Given the description of an element on the screen output the (x, y) to click on. 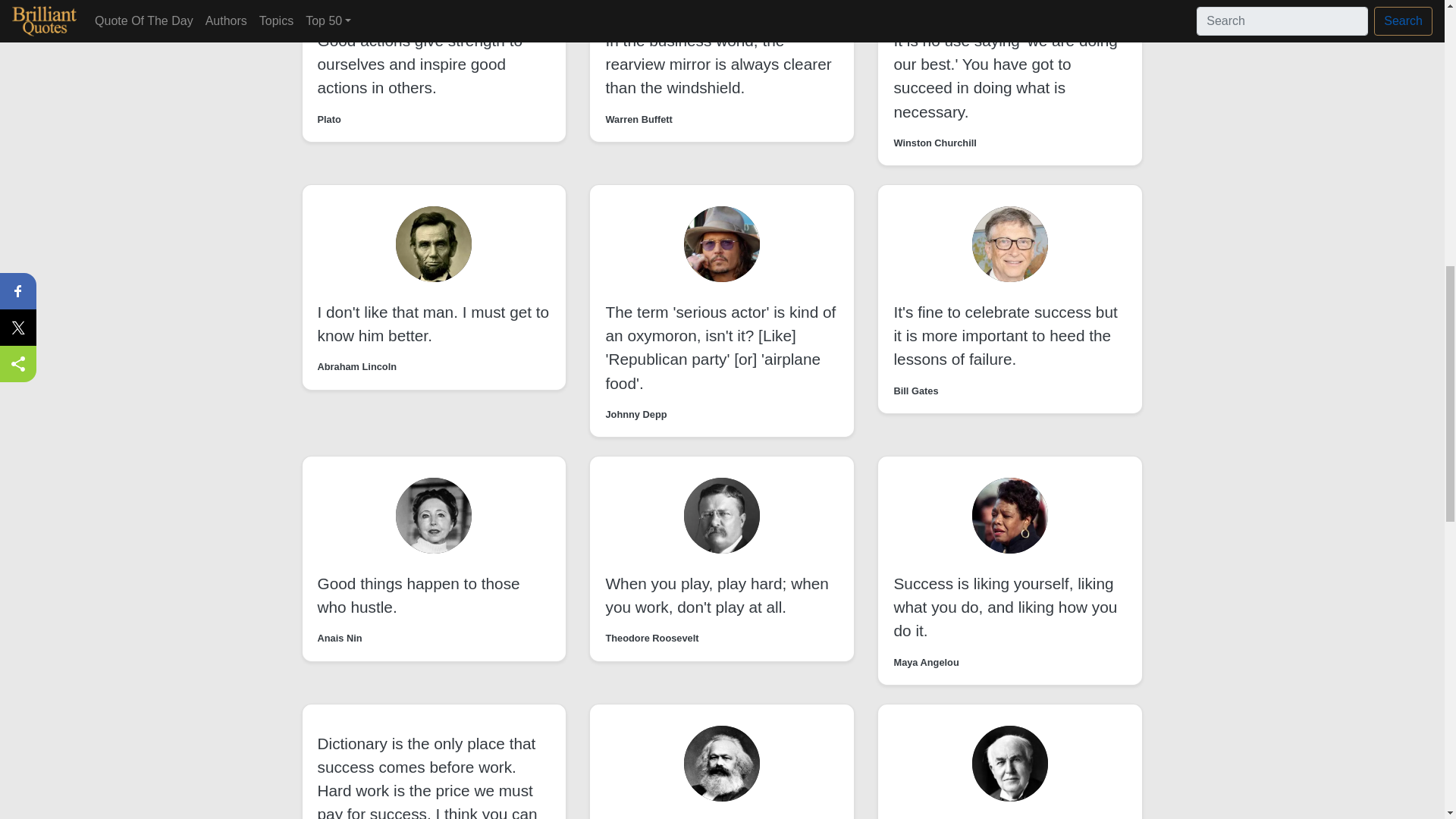
Bill Gates (915, 391)
I don't like that man. I must get to know him better. (432, 323)
Winston Churchill (934, 142)
Good things happen to those who hustle. (418, 594)
Anais Nin (339, 637)
Johnny Depp (635, 414)
Abraham Lincoln (356, 366)
Plato (328, 119)
Warren Buffett (638, 119)
